Given the description of an element on the screen output the (x, y) to click on. 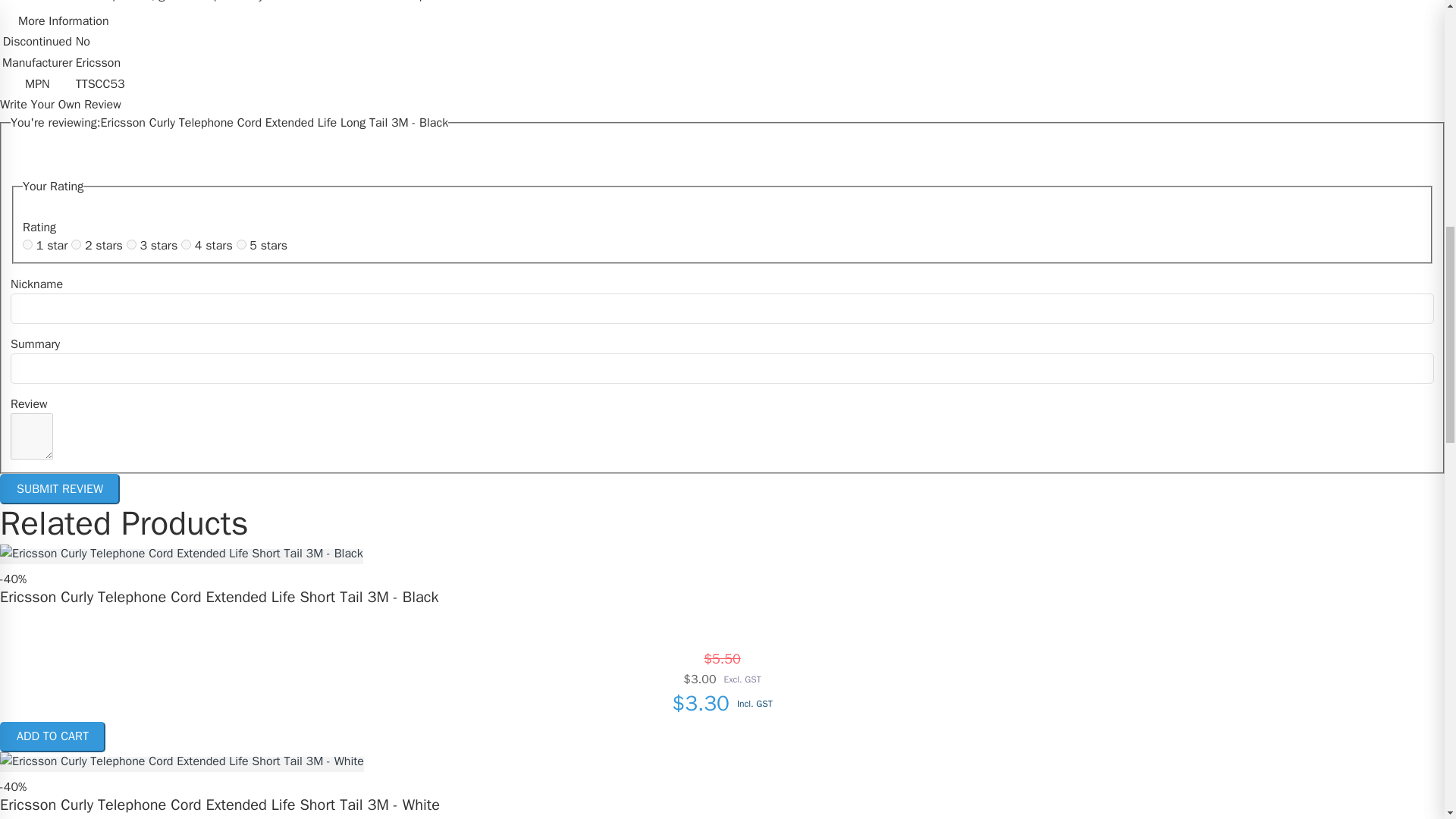
101 (27, 244)
5 stars (267, 245)
121 (131, 244)
2 stars (105, 245)
4 stars (215, 245)
131 (185, 244)
111 (76, 244)
141 (240, 244)
3 stars (159, 245)
Add to Cart (52, 736)
1 star (53, 245)
